Given the description of an element on the screen output the (x, y) to click on. 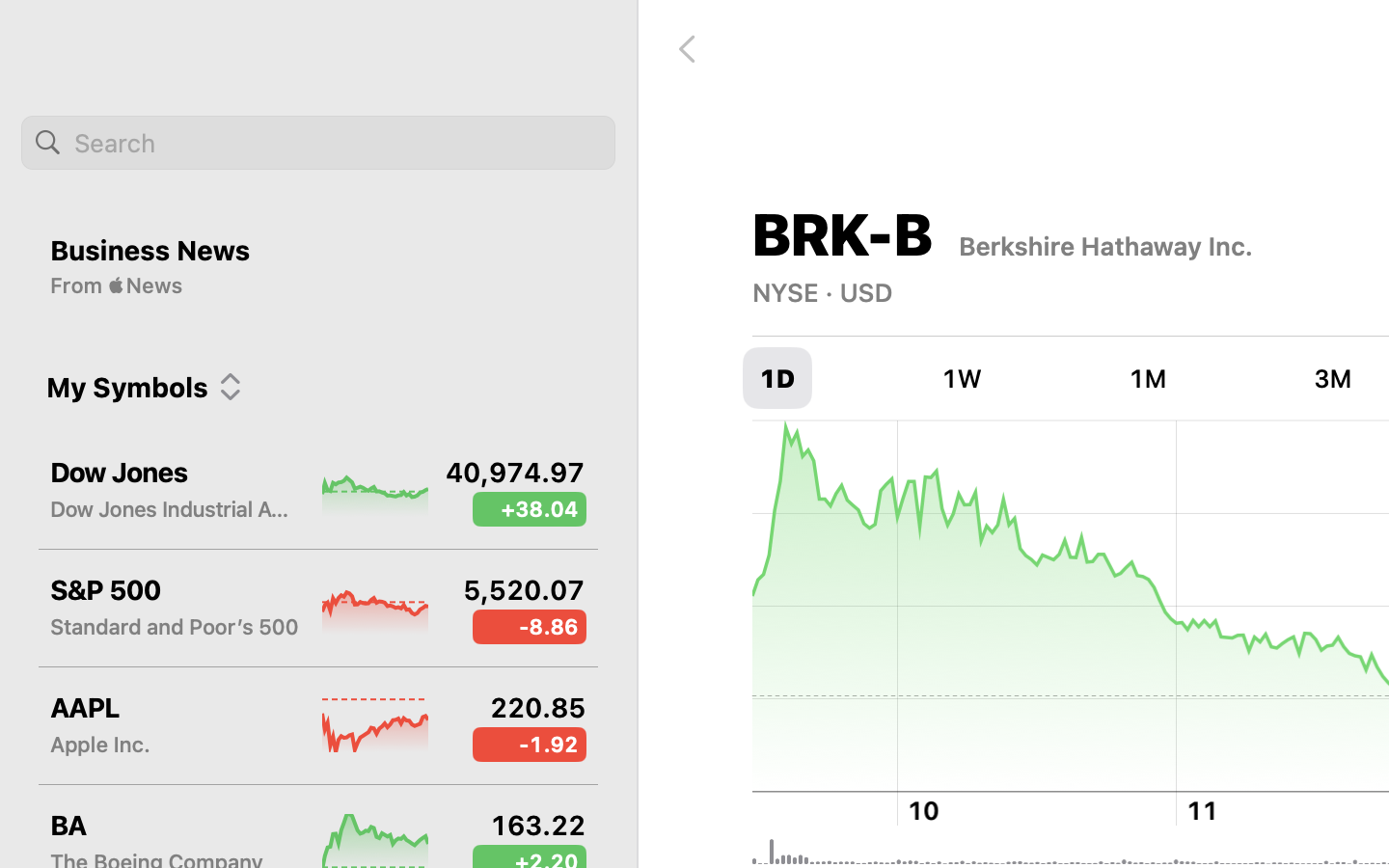
selected Element type: AXButton (777, 377)
